Given the description of an element on the screen output the (x, y) to click on. 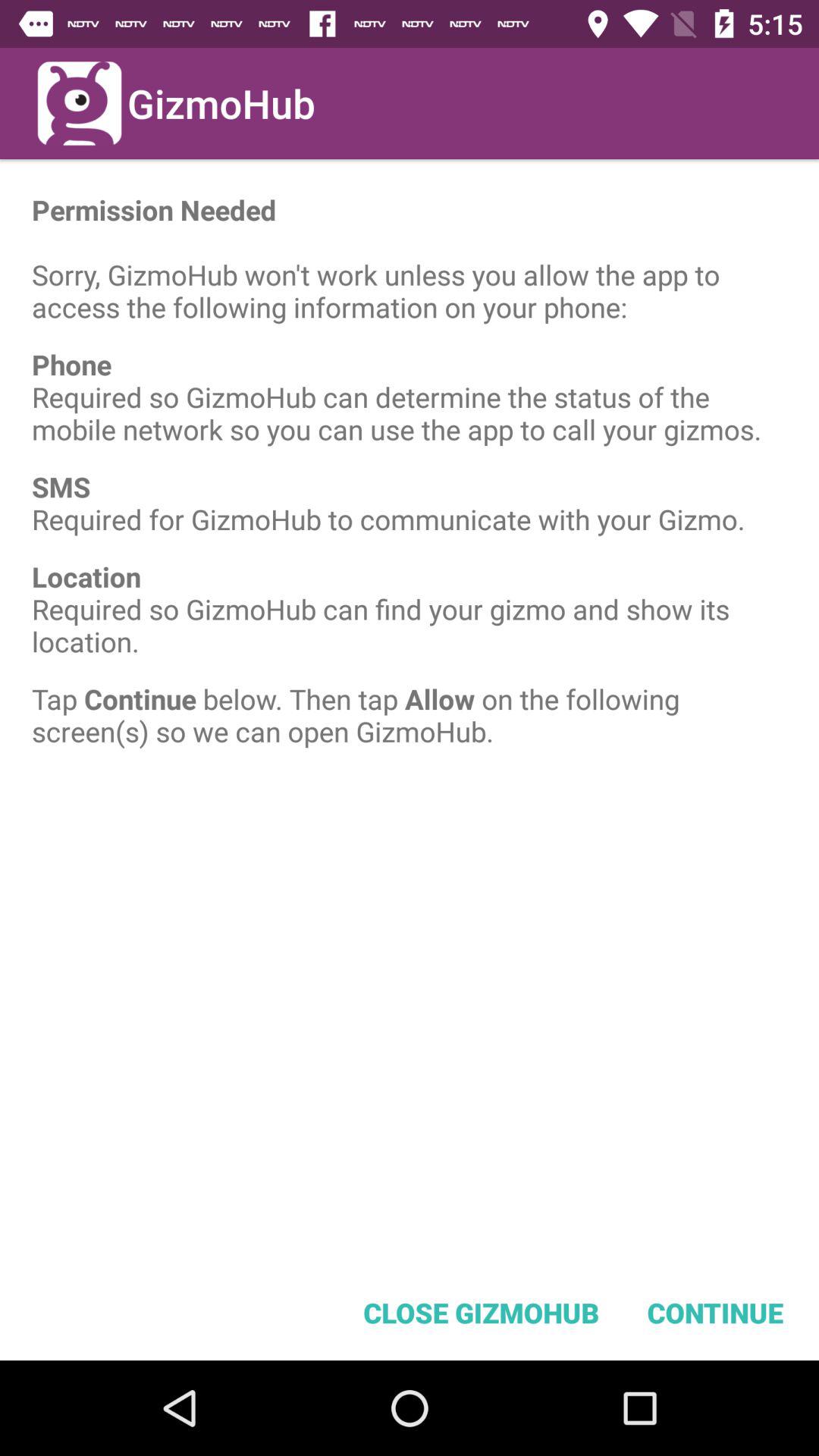
select item next to the continue item (481, 1312)
